Given the description of an element on the screen output the (x, y) to click on. 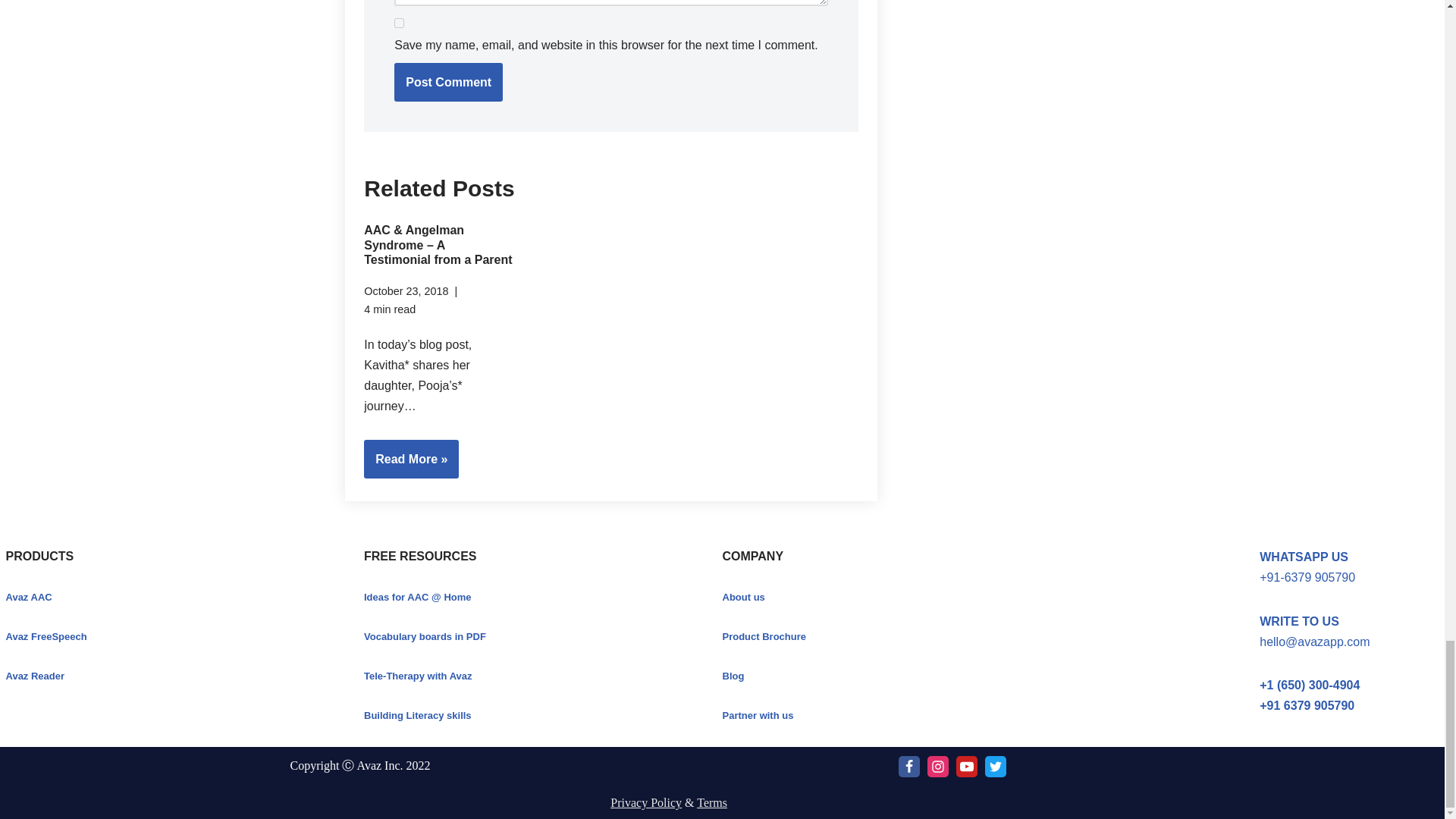
Facebook (909, 766)
Youtube (966, 766)
Post Comment (448, 82)
Instagram (938, 766)
yes (399, 22)
